Given the description of an element on the screen output the (x, y) to click on. 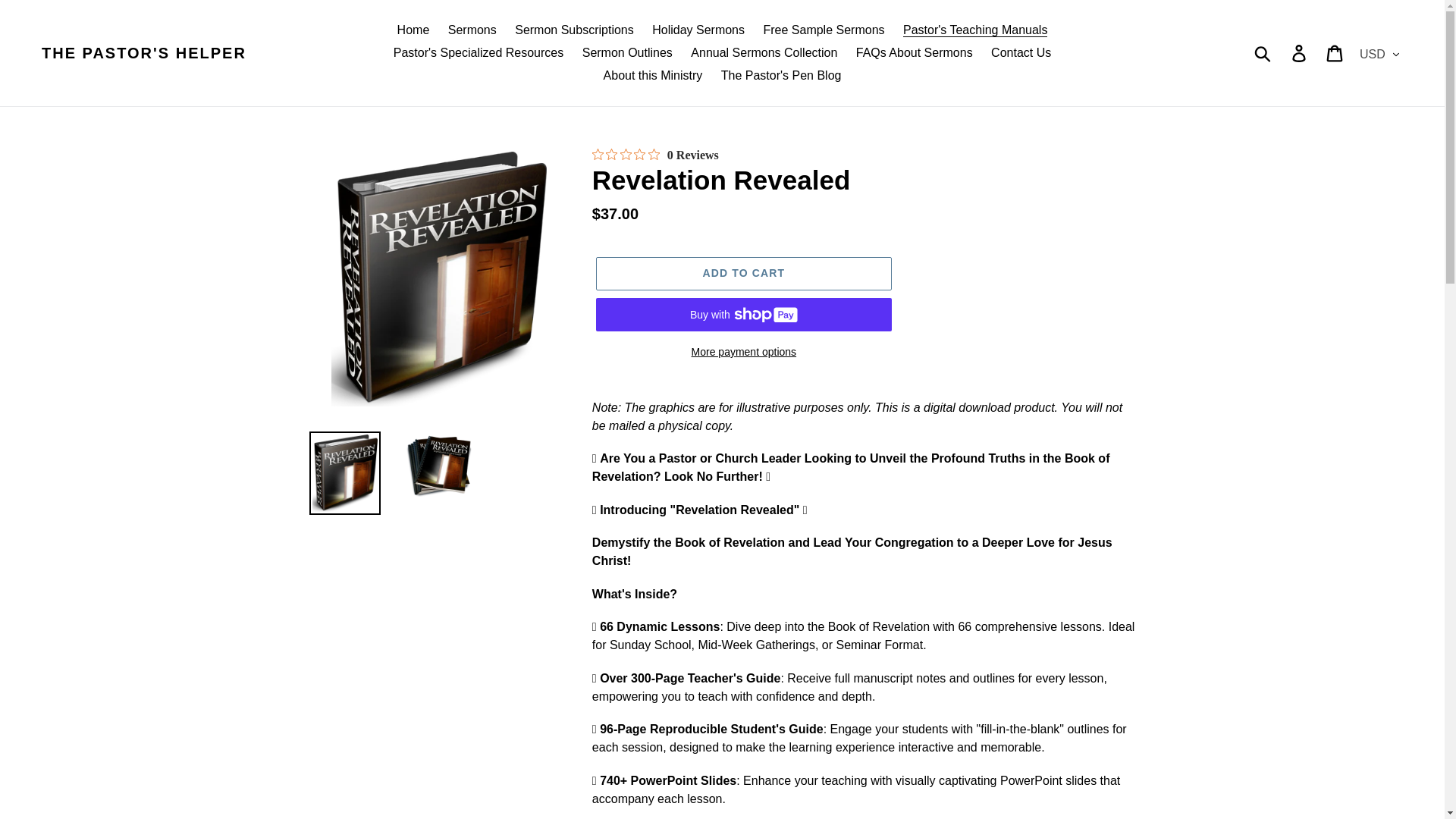
Contact Us (1021, 52)
0 Reviews (655, 155)
FAQs About Sermons (913, 52)
Sermon Outlines (627, 52)
Pastor's Specialized Resources (478, 52)
Pastor's Teaching Manuals (974, 29)
Sermons (472, 29)
Cart (1335, 52)
Annual Sermons Collection (763, 52)
The Pastor's Pen Blog (780, 75)
Holiday Sermons (698, 29)
About this Ministry (652, 75)
Log in (1299, 52)
THE PASTOR'S HELPER (144, 53)
Submit (1263, 52)
